Given the description of an element on the screen output the (x, y) to click on. 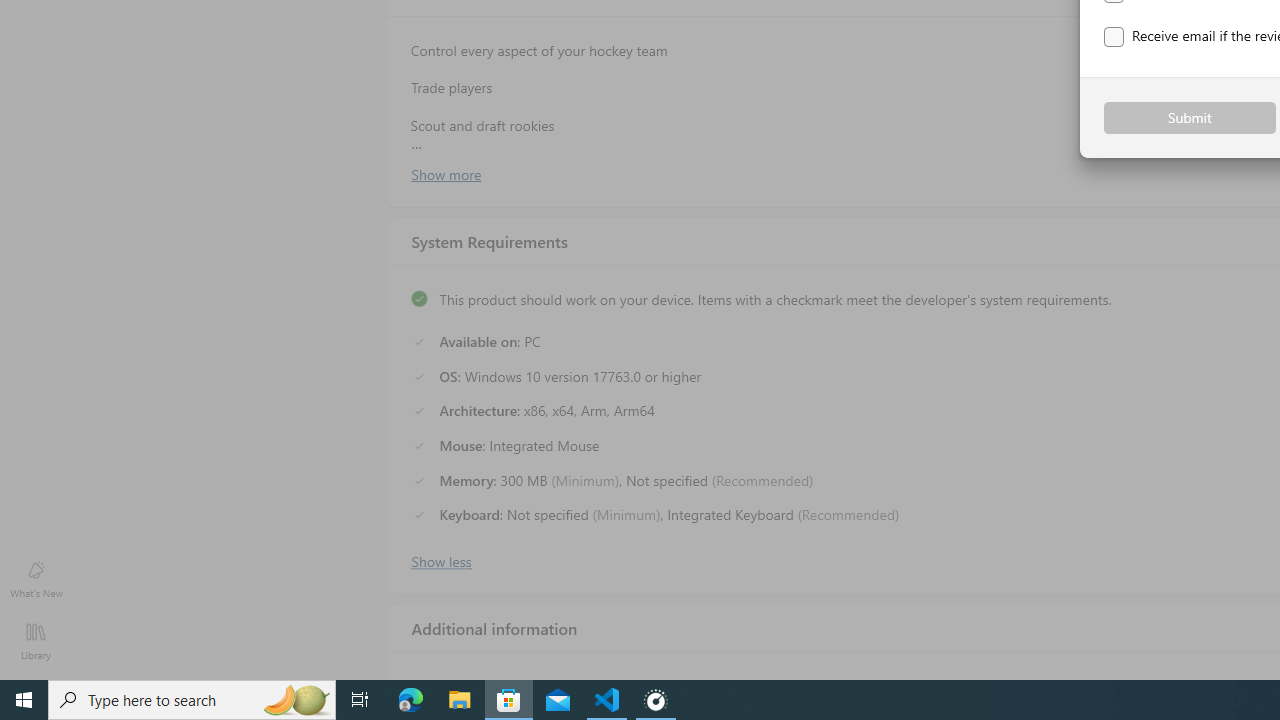
Show less (440, 559)
Submit (1189, 117)
Library (35, 640)
Show more (445, 173)
What's New (35, 578)
